Given the description of an element on the screen output the (x, y) to click on. 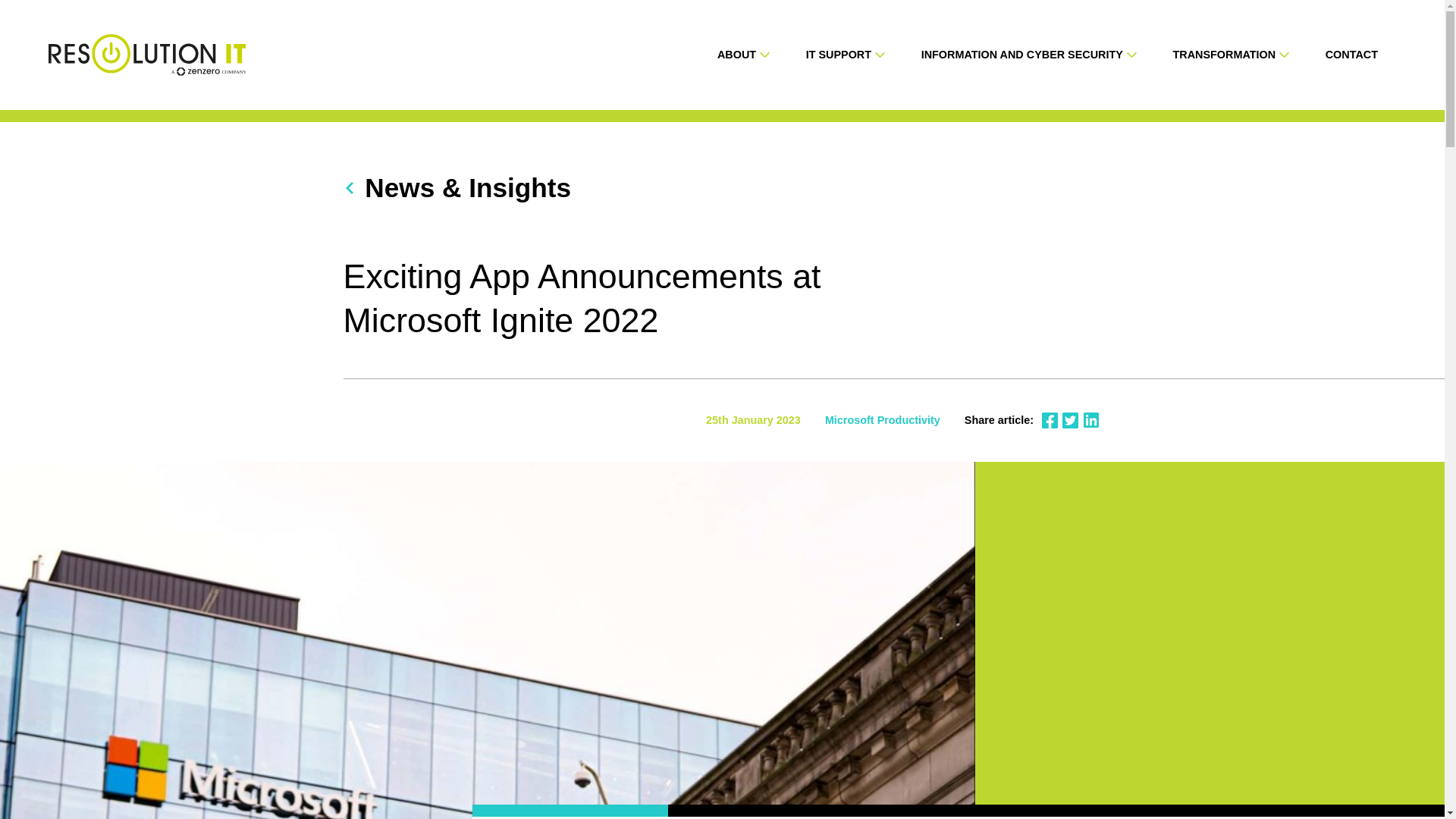
ABOUT (736, 54)
IT SUPPORT (838, 54)
CONTACT (1350, 54)
INFORMATION AND CYBER SECURITY (1021, 54)
TRANSFORMATION (1223, 54)
